Given the description of an element on the screen output the (x, y) to click on. 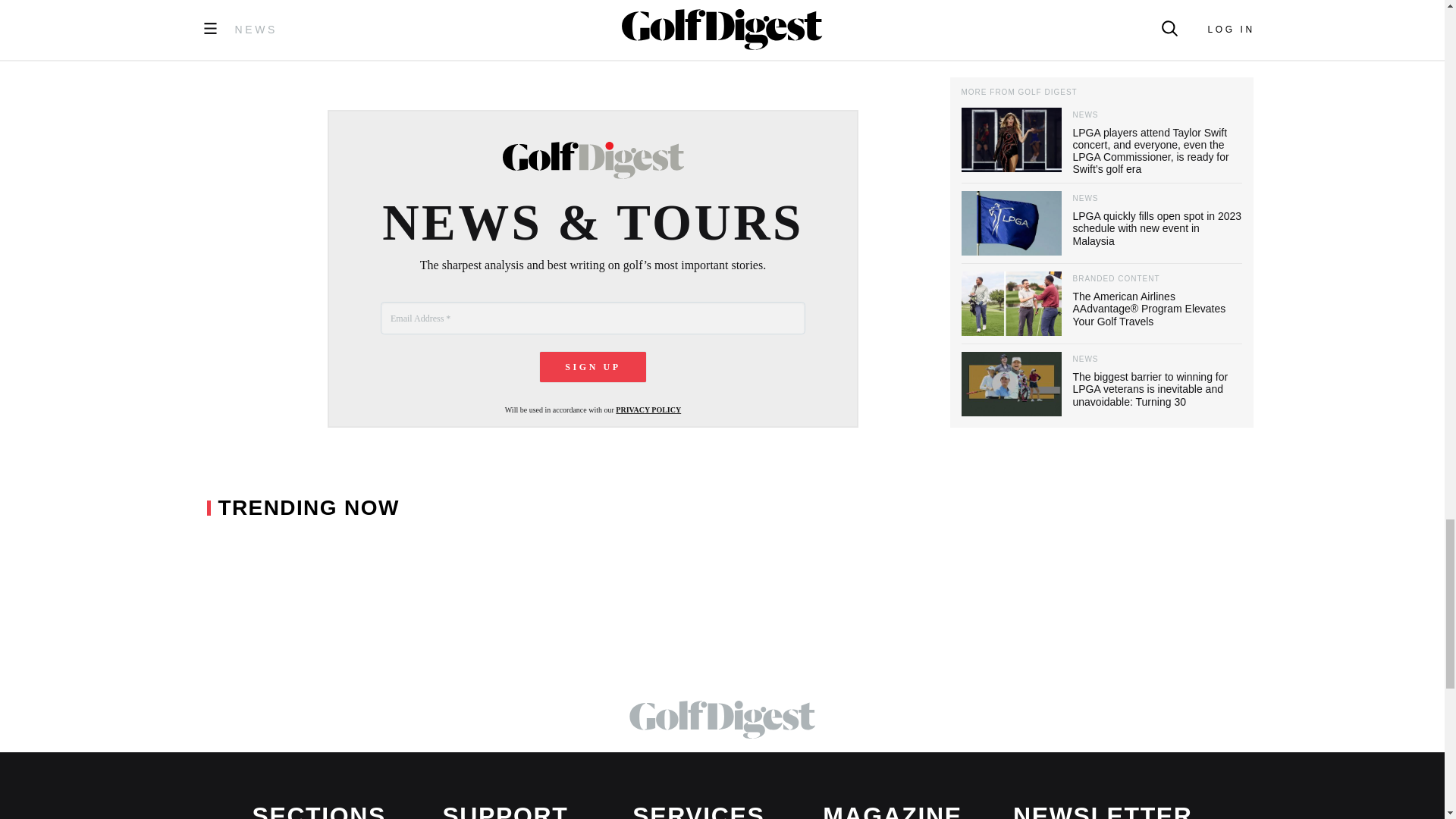
Share on Facebook (432, 20)
Sign up (593, 367)
Share on LinkedIn (506, 20)
Share on Twitter (472, 20)
